Given the description of an element on the screen output the (x, y) to click on. 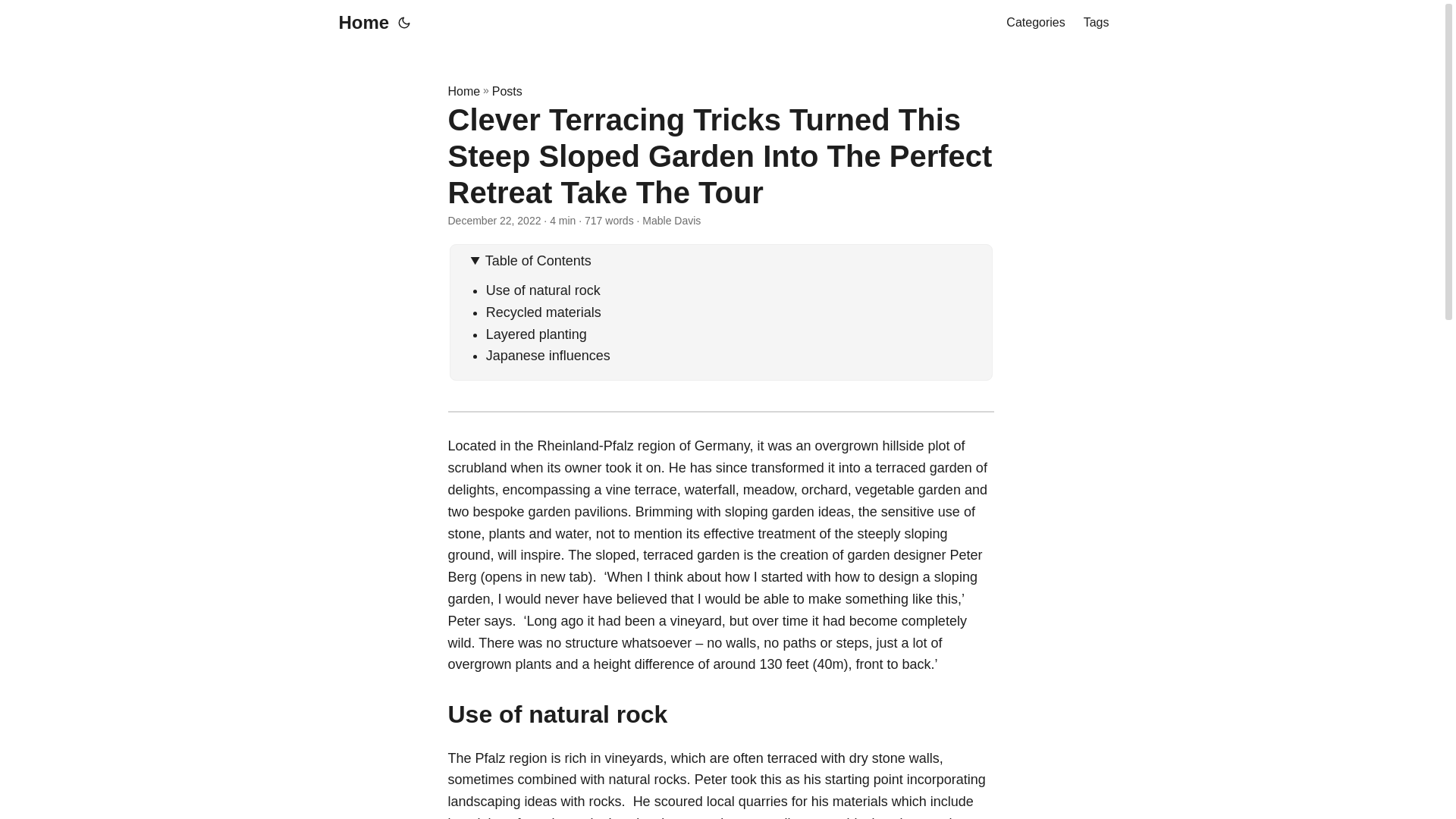
Home (463, 91)
Categories (1035, 22)
Categories (1035, 22)
Layered planting (536, 334)
Japanese influences (548, 355)
Recycled materials (543, 312)
Use of natural rock (542, 290)
Posts (507, 91)
Home (359, 22)
